Given the description of an element on the screen output the (x, y) to click on. 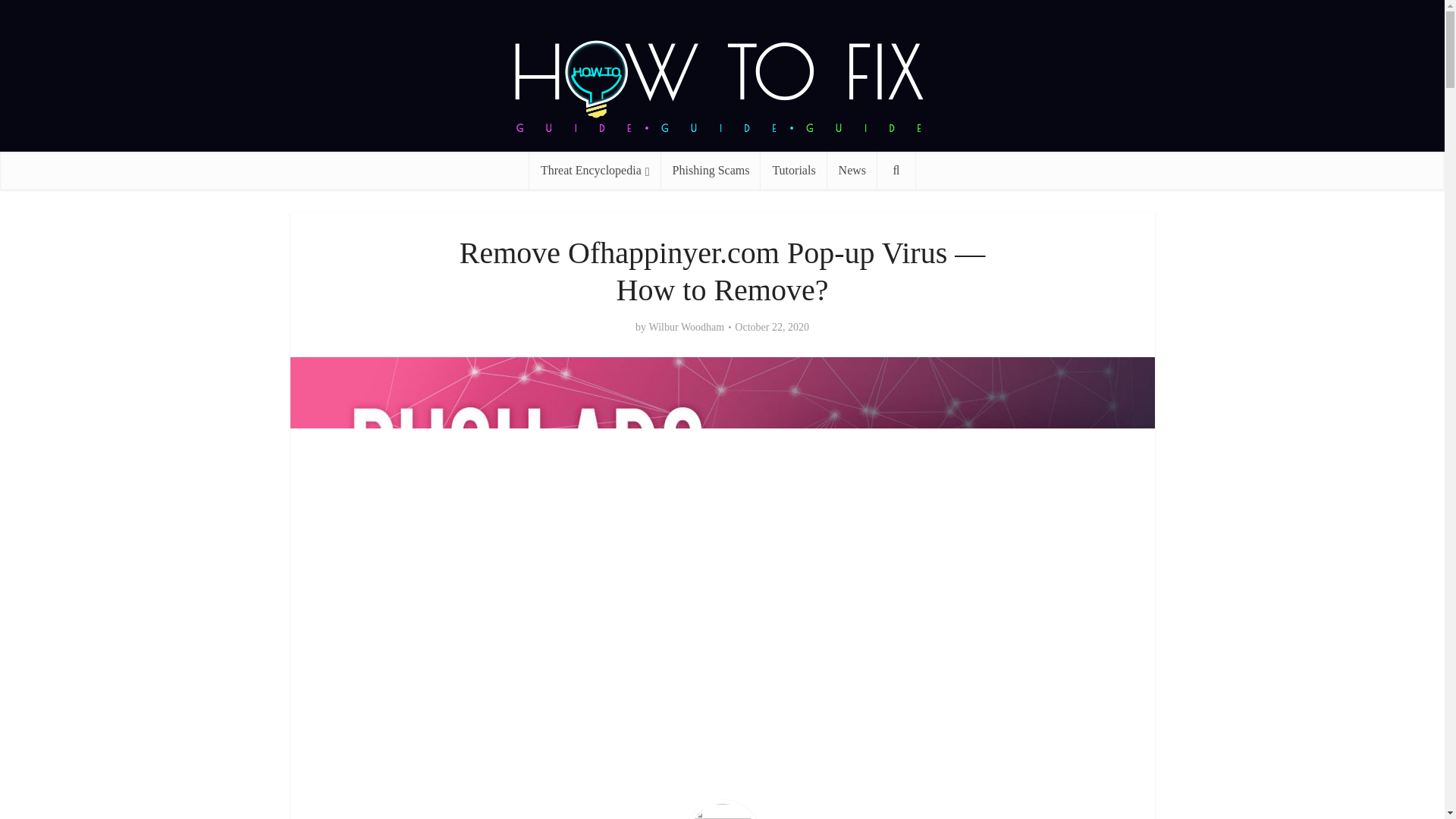
Phishing Scams (711, 170)
Tutorials (793, 170)
Threat Encyclopedia (595, 170)
Wilbur Woodham (687, 327)
News (852, 170)
